Given the description of an element on the screen output the (x, y) to click on. 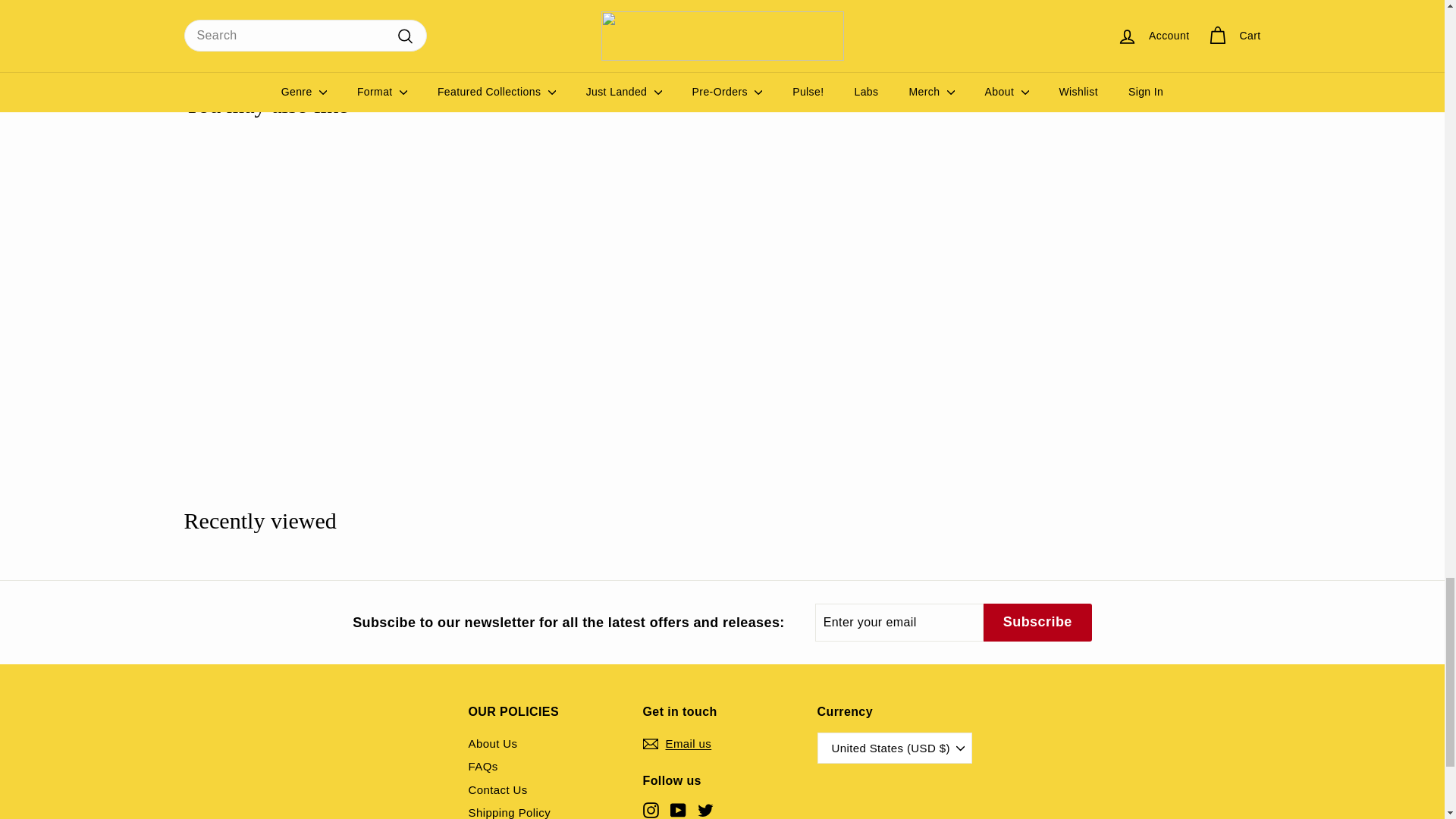
Tower Records on Twitter (705, 810)
instagram (651, 810)
Tower Records on Instagram (651, 810)
Tower Records on YouTube (677, 810)
twitter (705, 810)
